Given the description of an element on the screen output the (x, y) to click on. 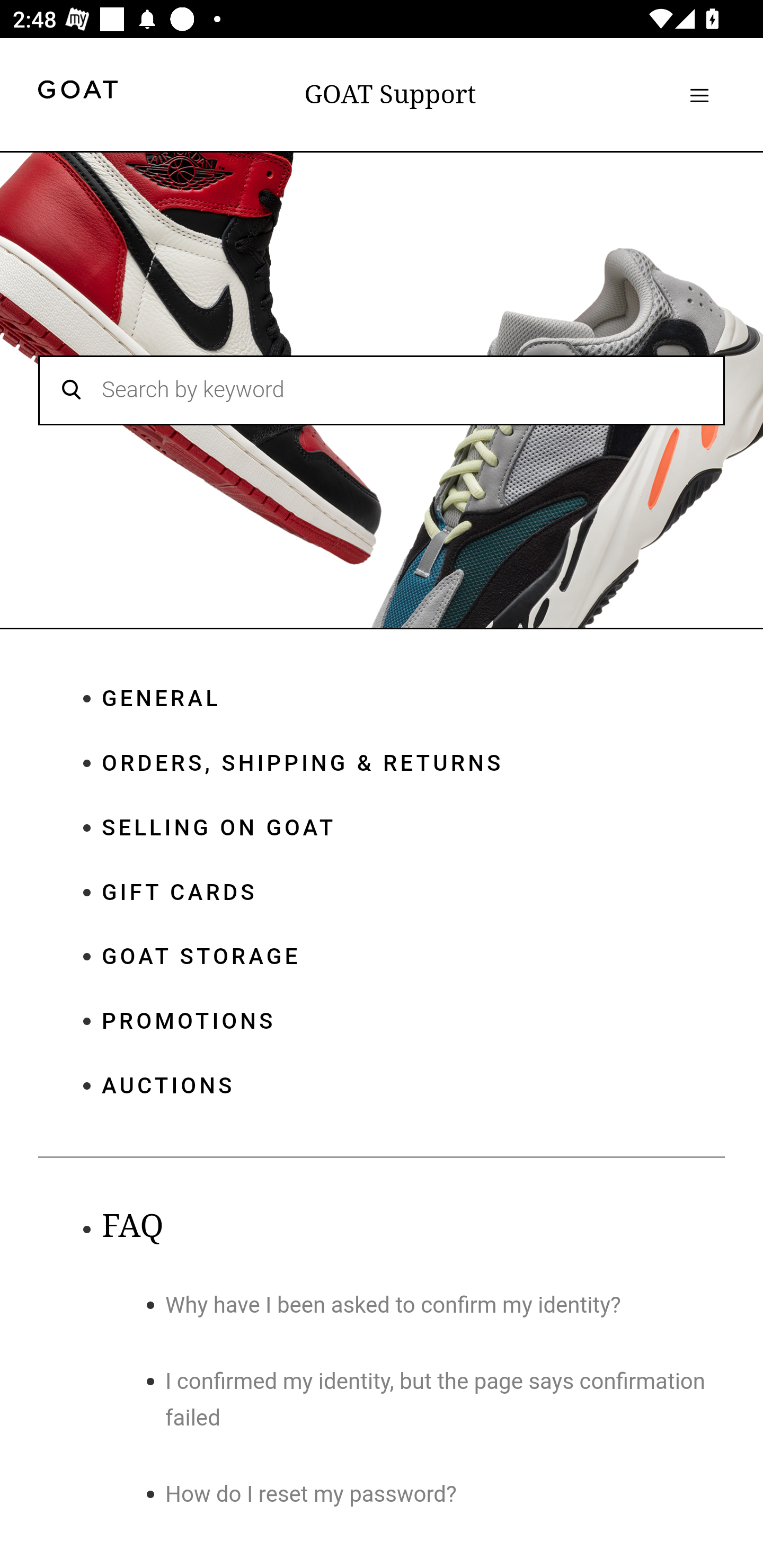
goat header logo (77, 92)
Toggle navigation menu (698, 94)
GOAT Support (389, 94)
GENERAL (412, 699)
ORDERS, SHIPPING & RETURNS (412, 763)
SELLING ON GOAT (412, 828)
GIFT CARDS (412, 891)
GOAT STORAGE (412, 956)
PROMOTIONS (412, 1022)
AUCTIONS (412, 1085)
FAQ (132, 1225)
Why have I been asked to confirm my identity? (393, 1305)
How do I reset my password? (311, 1494)
